Given the description of an element on the screen output the (x, y) to click on. 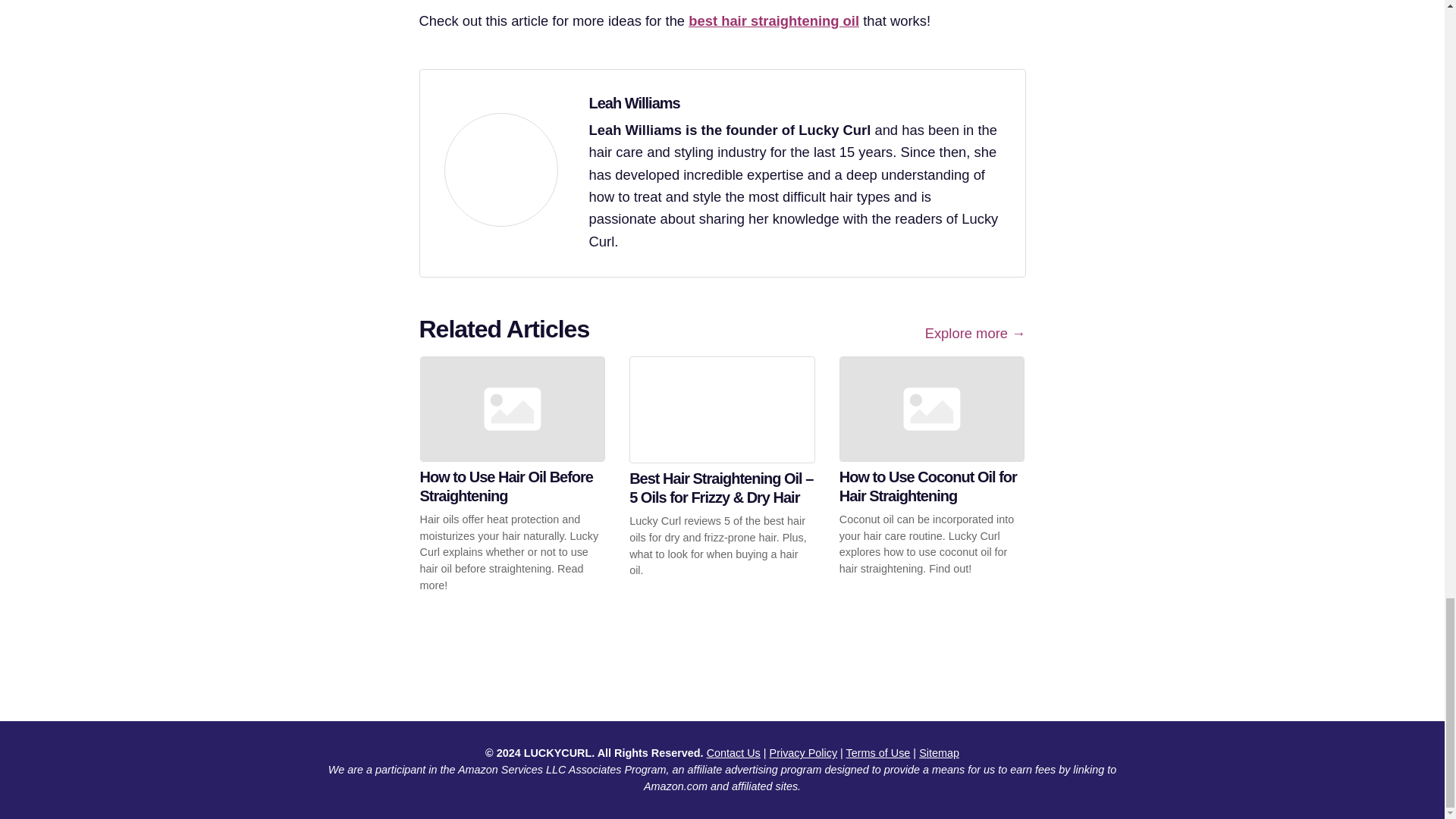
best hair straightening oil (773, 20)
Privacy Policy (804, 752)
Contact Us (733, 752)
Terms of Use (878, 752)
Sitemap (938, 752)
